Given the description of an element on the screen output the (x, y) to click on. 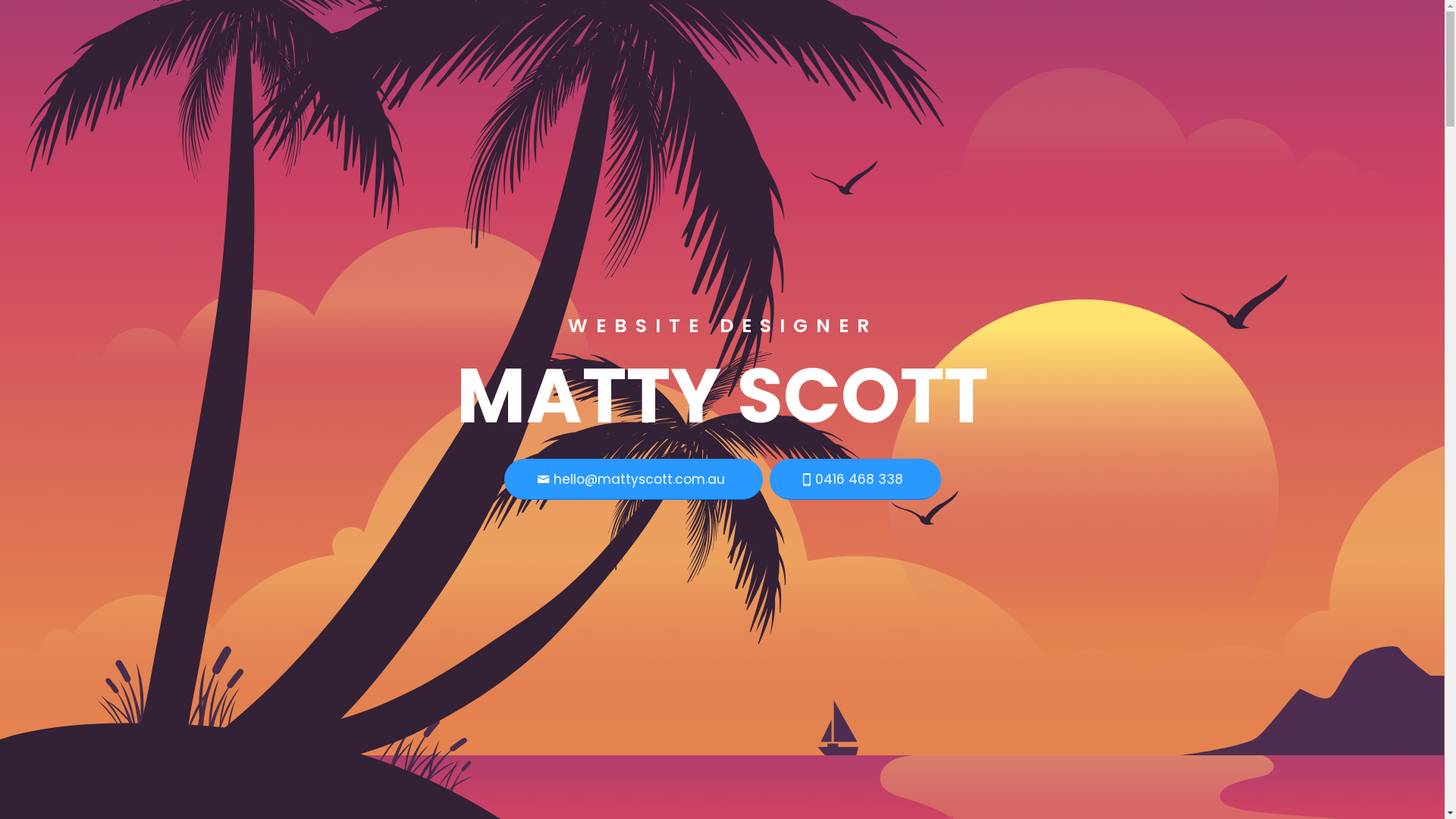
0416 468 338 Element type: text (854, 478)
hello@mattyscott.com.au Element type: text (632, 478)
